Given the description of an element on the screen output the (x, y) to click on. 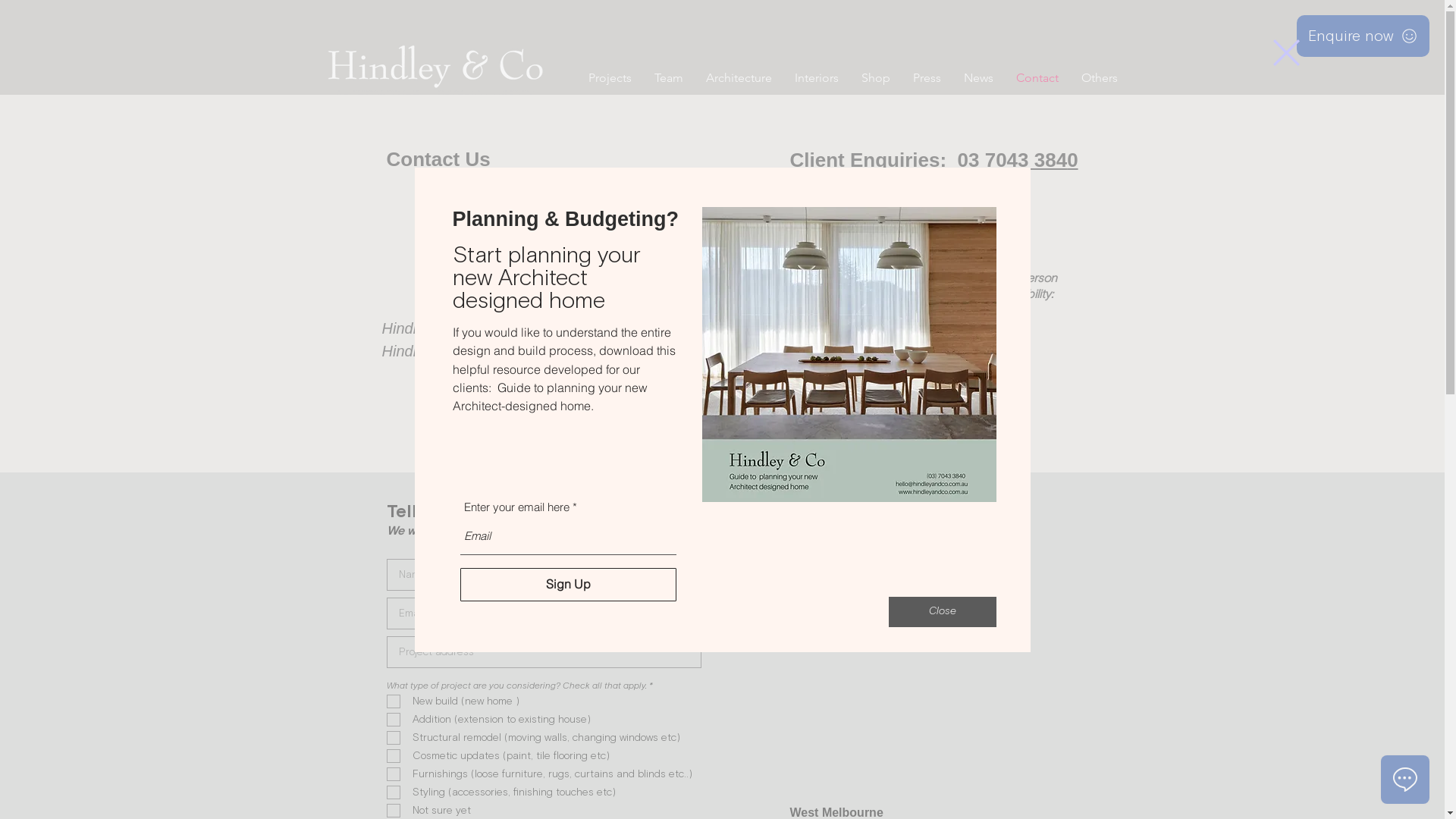
Hindley&Co Element type: hover (435, 64)
News Element type: text (978, 77)
Projects Element type: text (609, 77)
Back to site Element type: hover (1285, 51)
Team Element type: text (668, 77)
Architecture Element type: text (738, 77)
03 7043 3840 Element type: text (1017, 159)
Contact Us Element type: text (438, 158)
Refresh this page Element type: text (890, 594)
Enquire now Element type: text (1362, 35)
Shop Element type: text (874, 77)
hello@hindleyandco.com.au   Element type: text (898, 195)
for studio phone numbers see below Element type: text (895, 414)
Contact Element type: text (1036, 77)
Sign Up Element type: text (567, 583)
Press Element type: text (925, 77)
Book a time to connect Element type: text (883, 344)
Interiors Element type: text (815, 77)
